Given the description of an element on the screen output the (x, y) to click on. 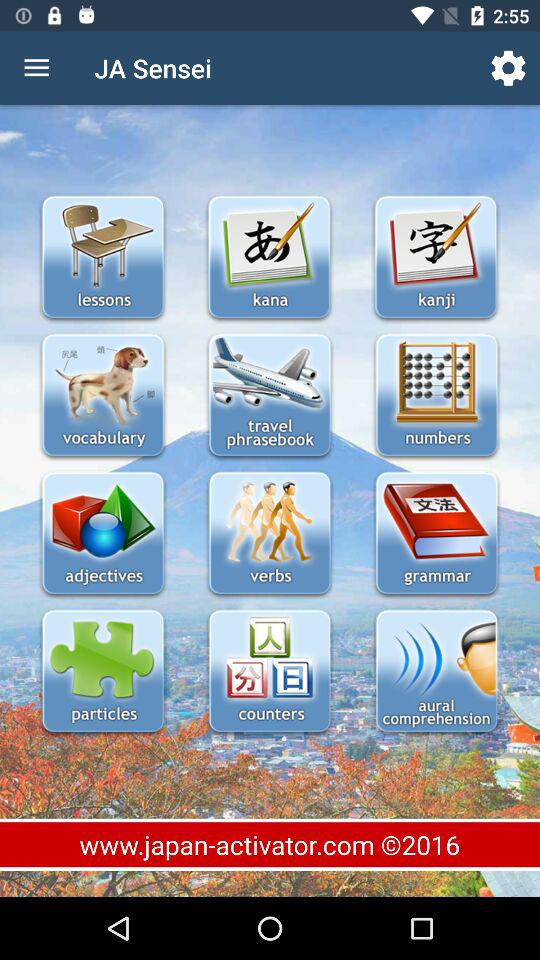
select particles option (102, 672)
